Given the description of an element on the screen output the (x, y) to click on. 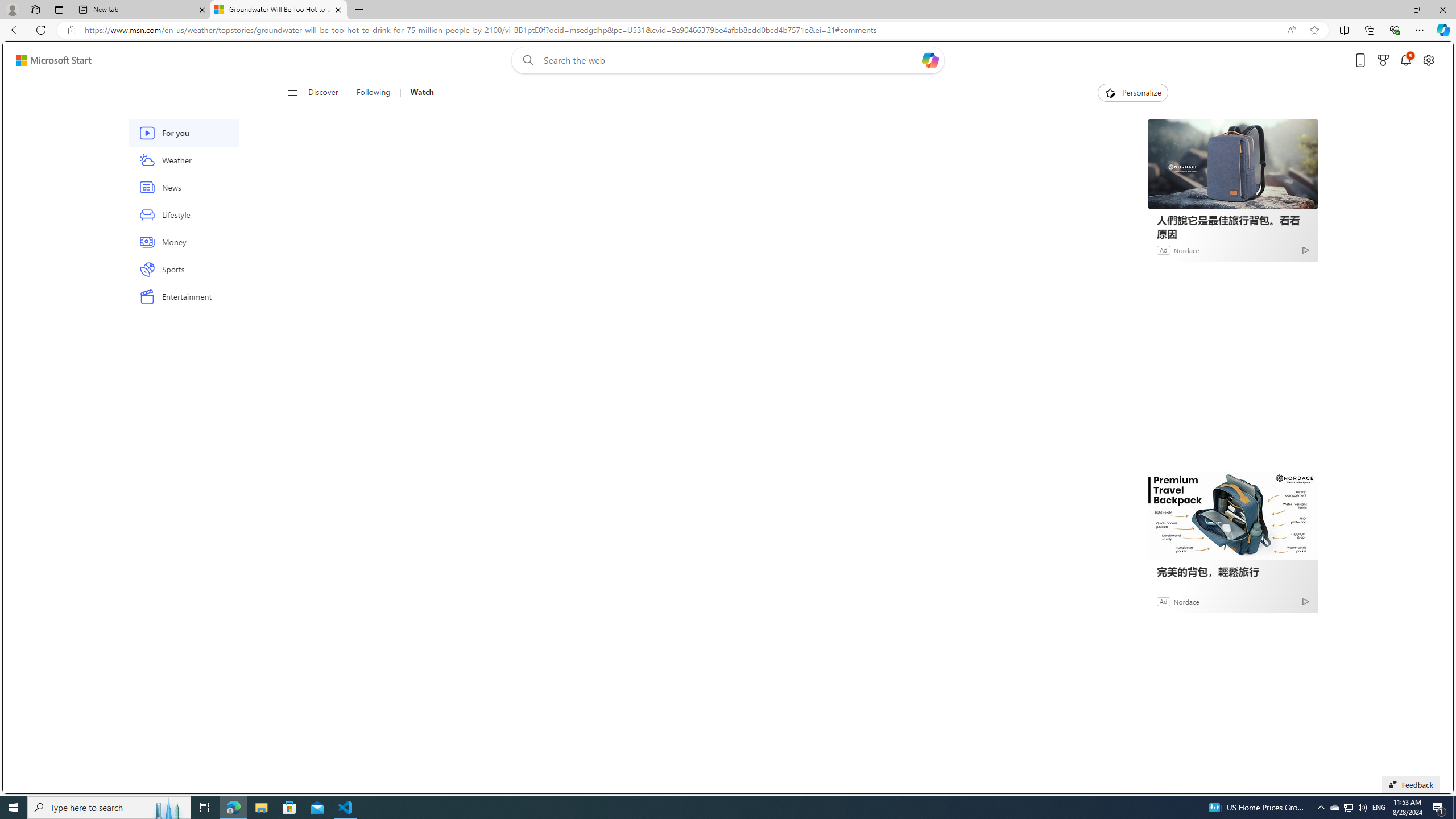
Personalize (1132, 92)
